Given the description of an element on the screen output the (x, y) to click on. 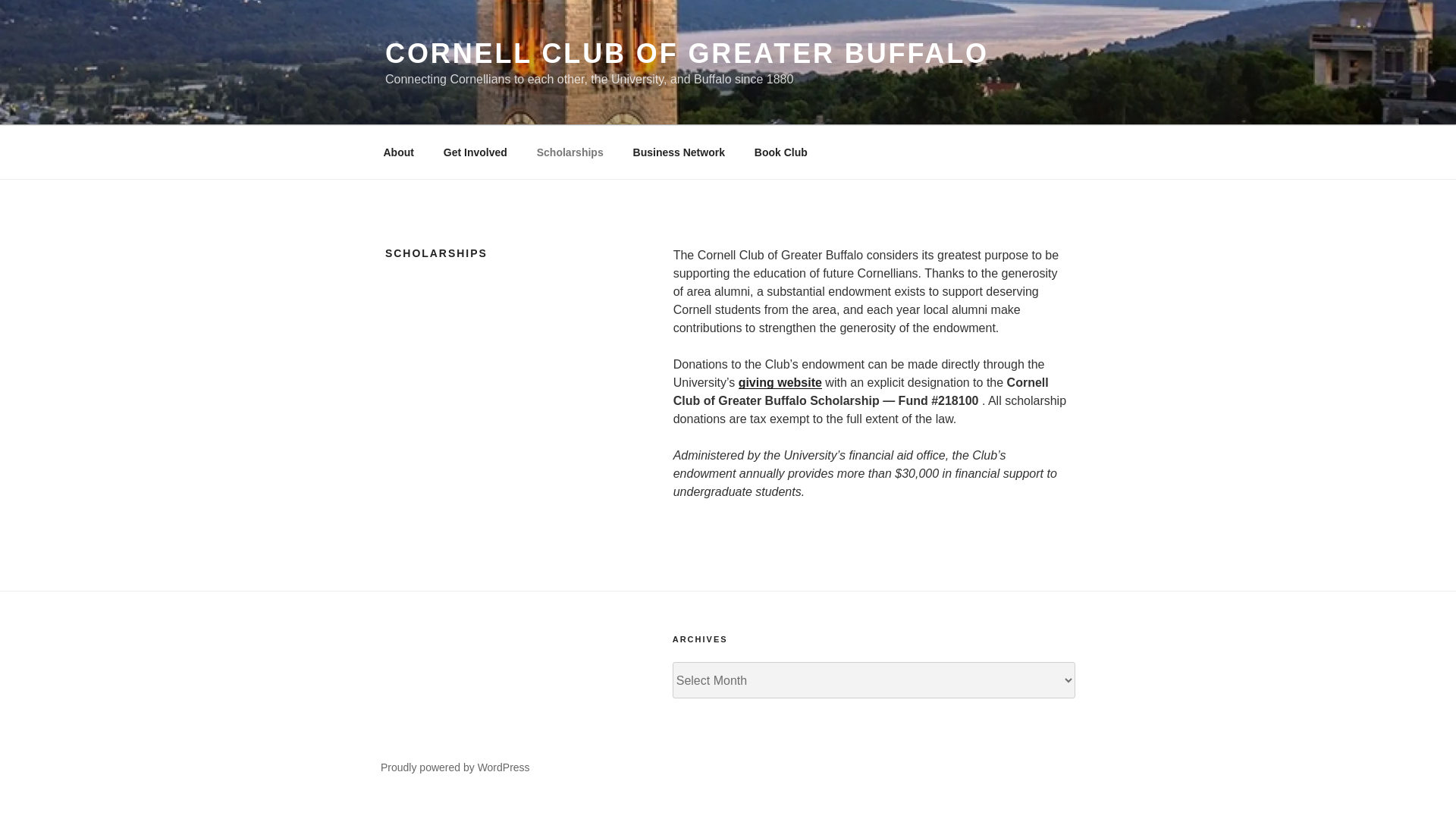
Business Network (679, 151)
giving website (780, 382)
Scholarships (568, 151)
Get Involved (474, 151)
CORNELL CLUB OF GREATER BUFFALO (686, 52)
About (397, 151)
Book Club (781, 151)
Proudly powered by WordPress (454, 767)
